Given the description of an element on the screen output the (x, y) to click on. 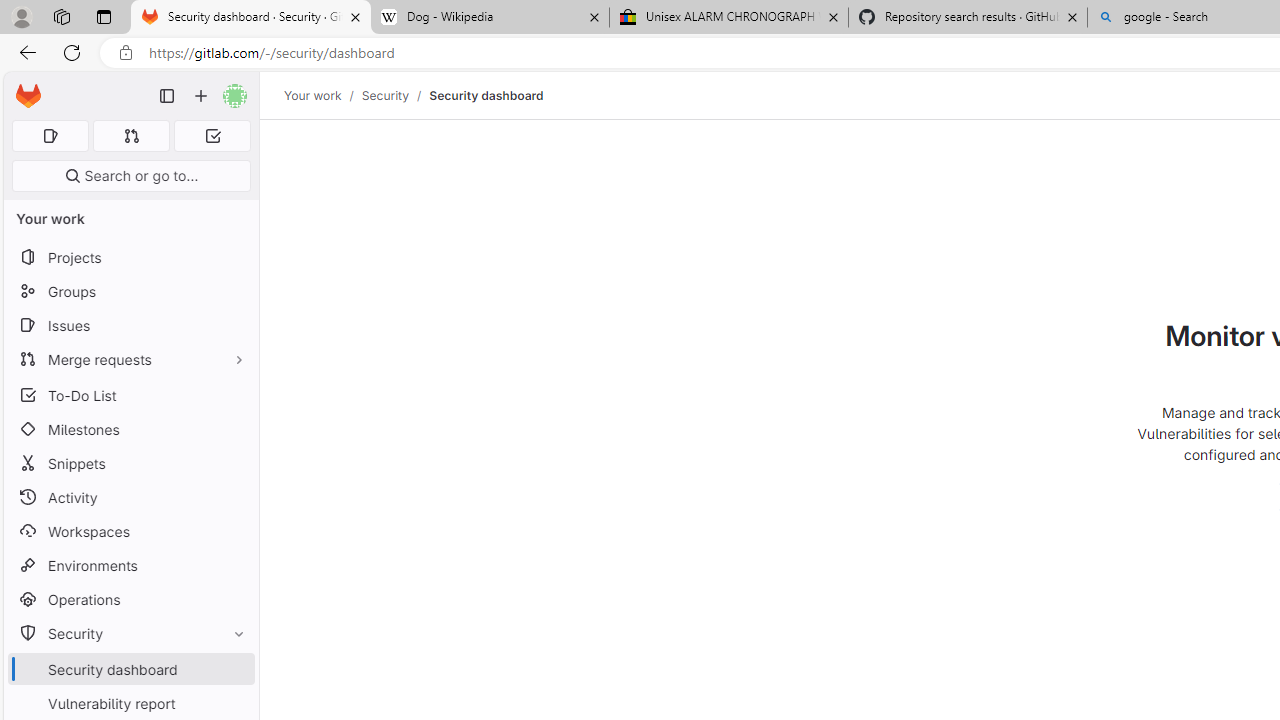
Snippets (130, 463)
To-Do List (130, 394)
Security/ (395, 95)
To-Do list 0 (212, 136)
Security (130, 633)
Activity (130, 497)
Assigned issues 0 (50, 136)
Milestones (130, 429)
